Given the description of an element on the screen output the (x, y) to click on. 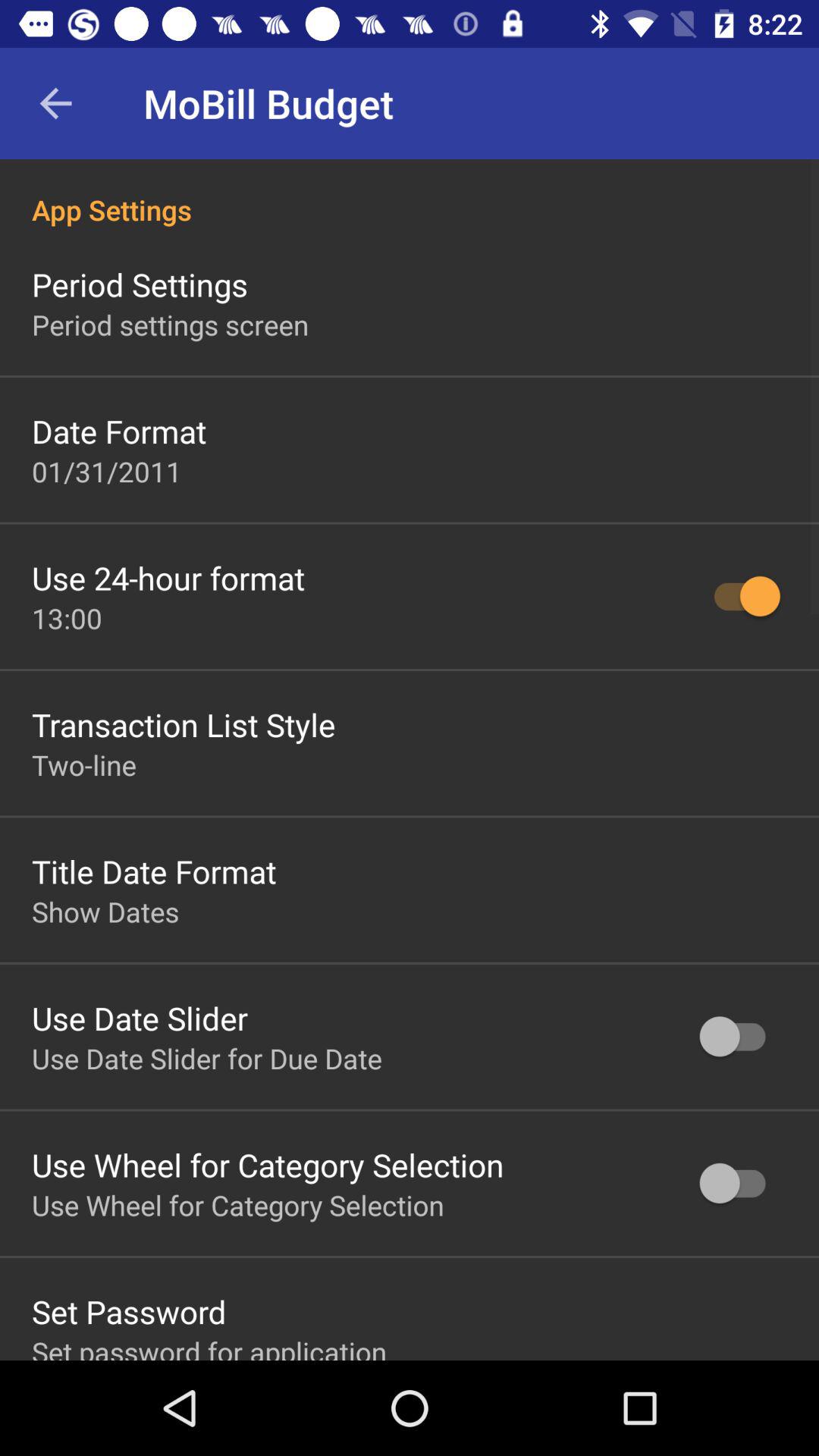
turn off item below the title date format (105, 911)
